Given the description of an element on the screen output the (x, y) to click on. 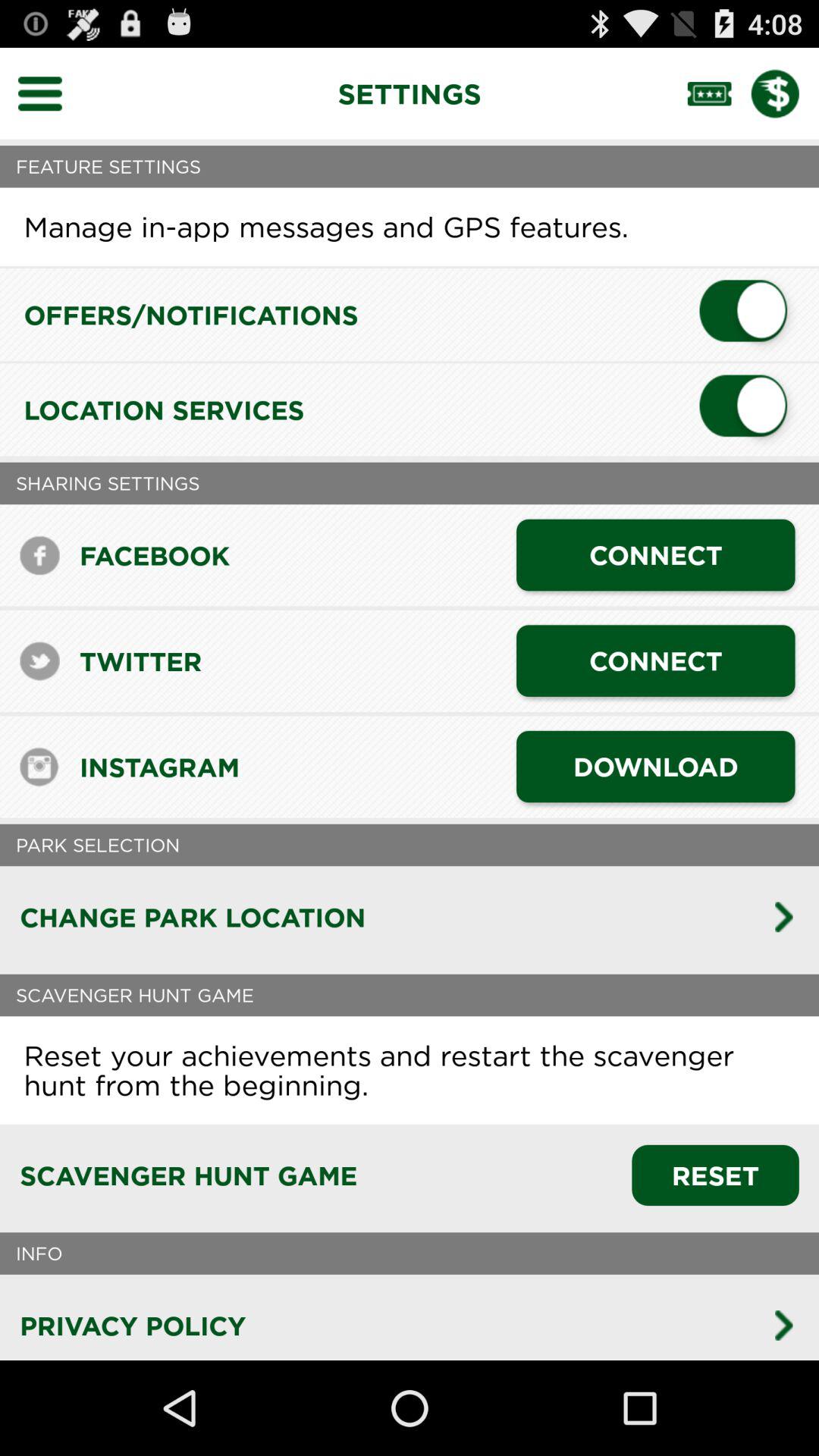
go to payment settings (785, 93)
